Given the description of an element on the screen output the (x, y) to click on. 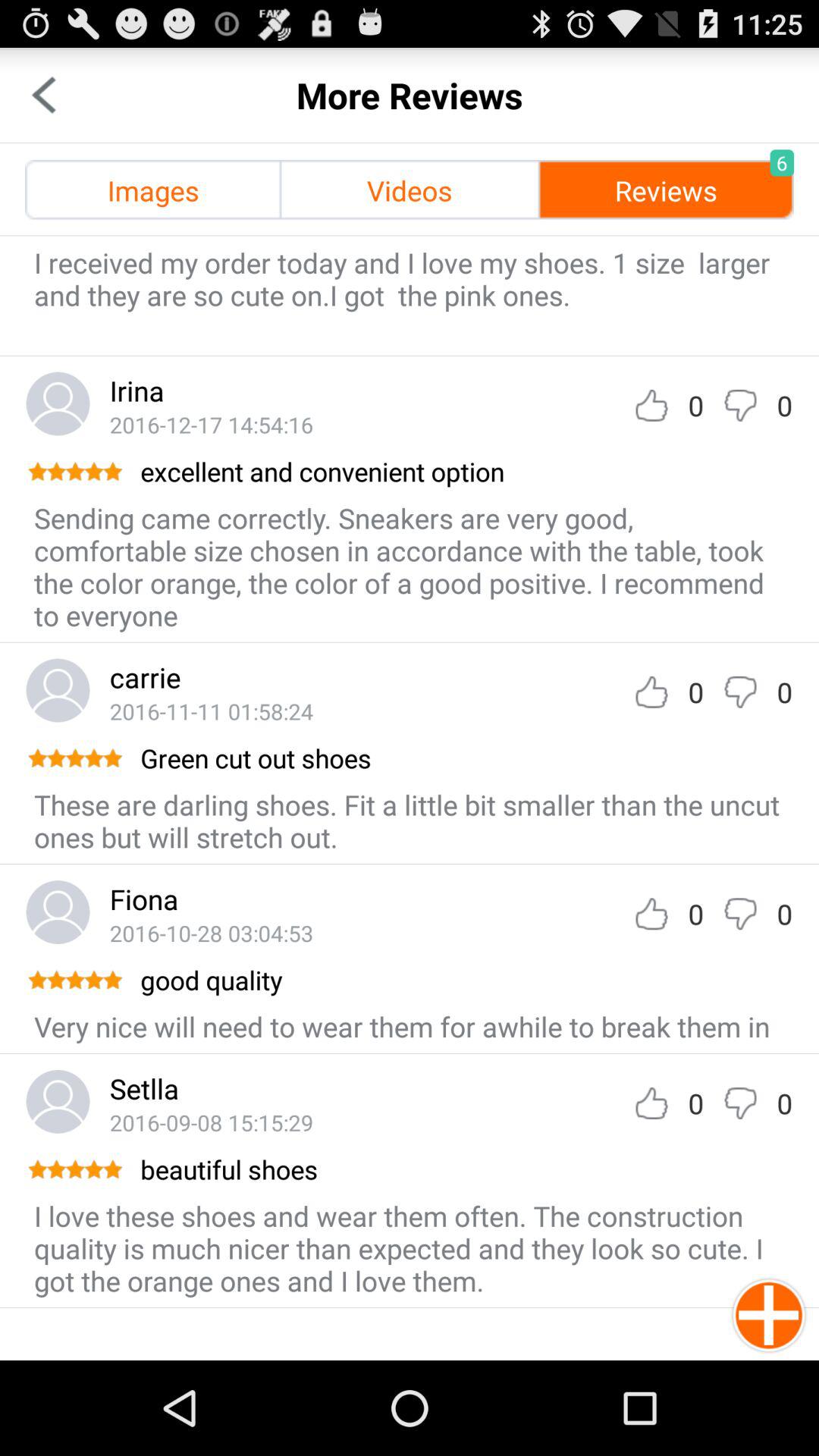
turn off the setlla app (144, 1088)
